Given the description of an element on the screen output the (x, y) to click on. 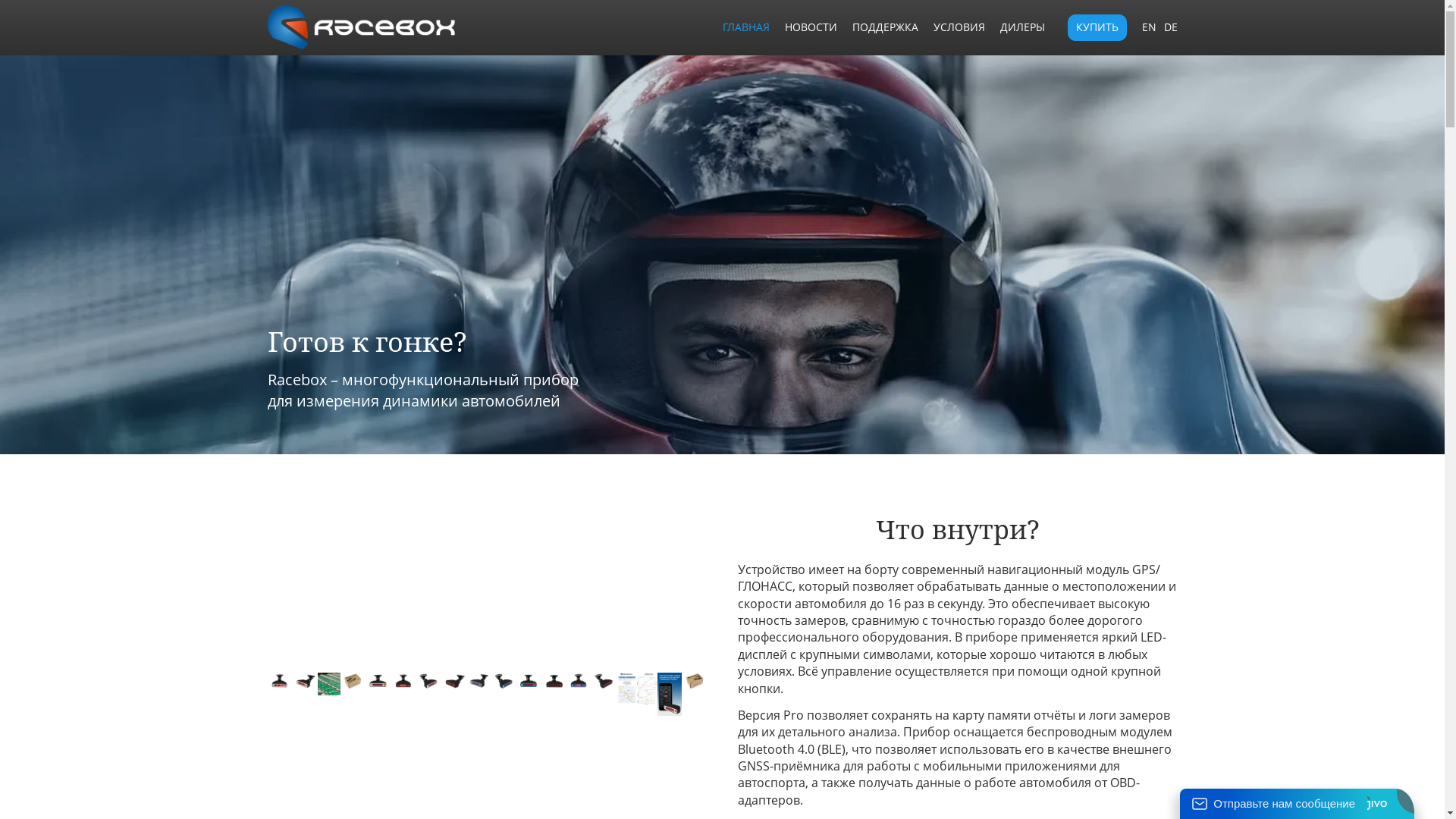
DE Element type: text (1169, 27)
EN Element type: text (1149, 27)
